Given the description of an element on the screen output the (x, y) to click on. 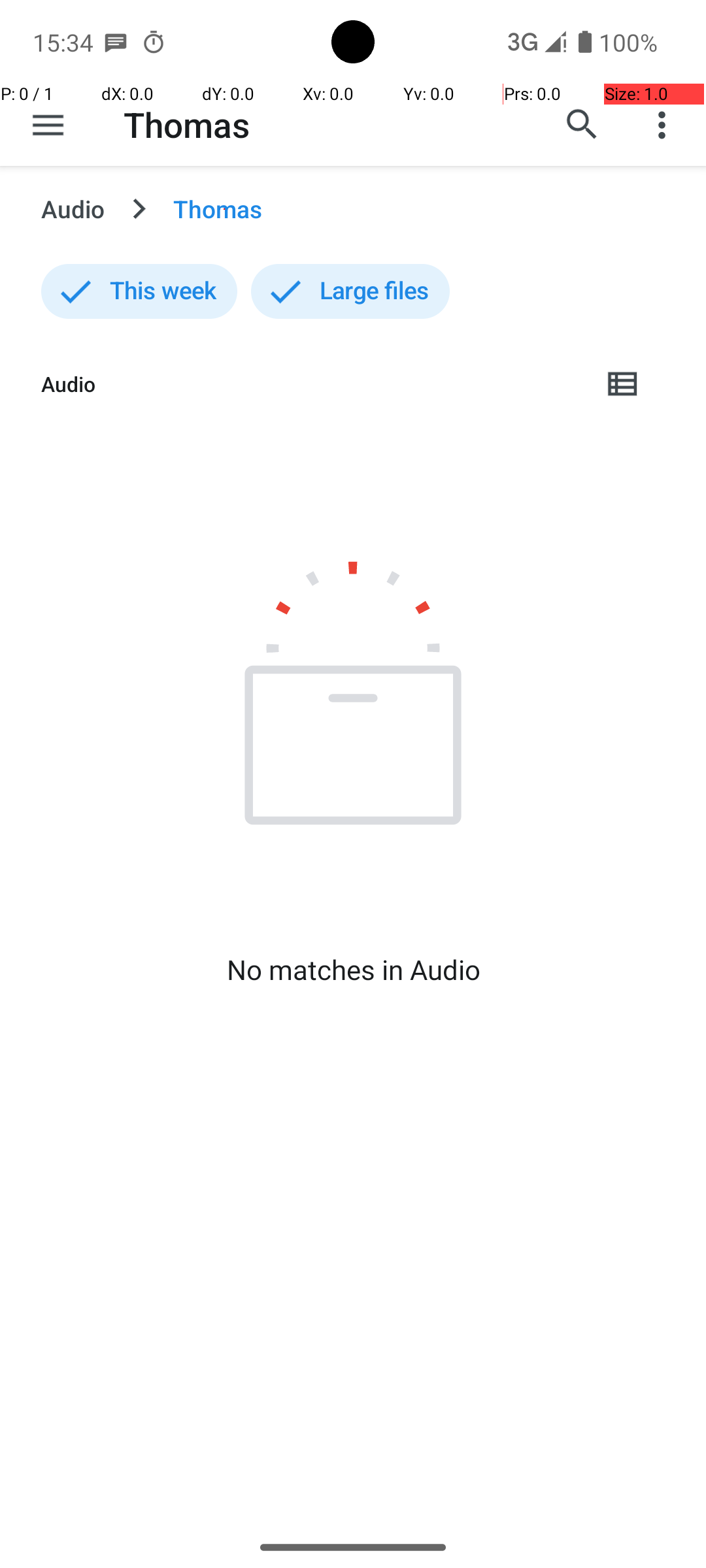
Thomas Element type: android.widget.TextView (186, 124)
No matches in Audio Element type: android.widget.TextView (352, 968)
